Given the description of an element on the screen output the (x, y) to click on. 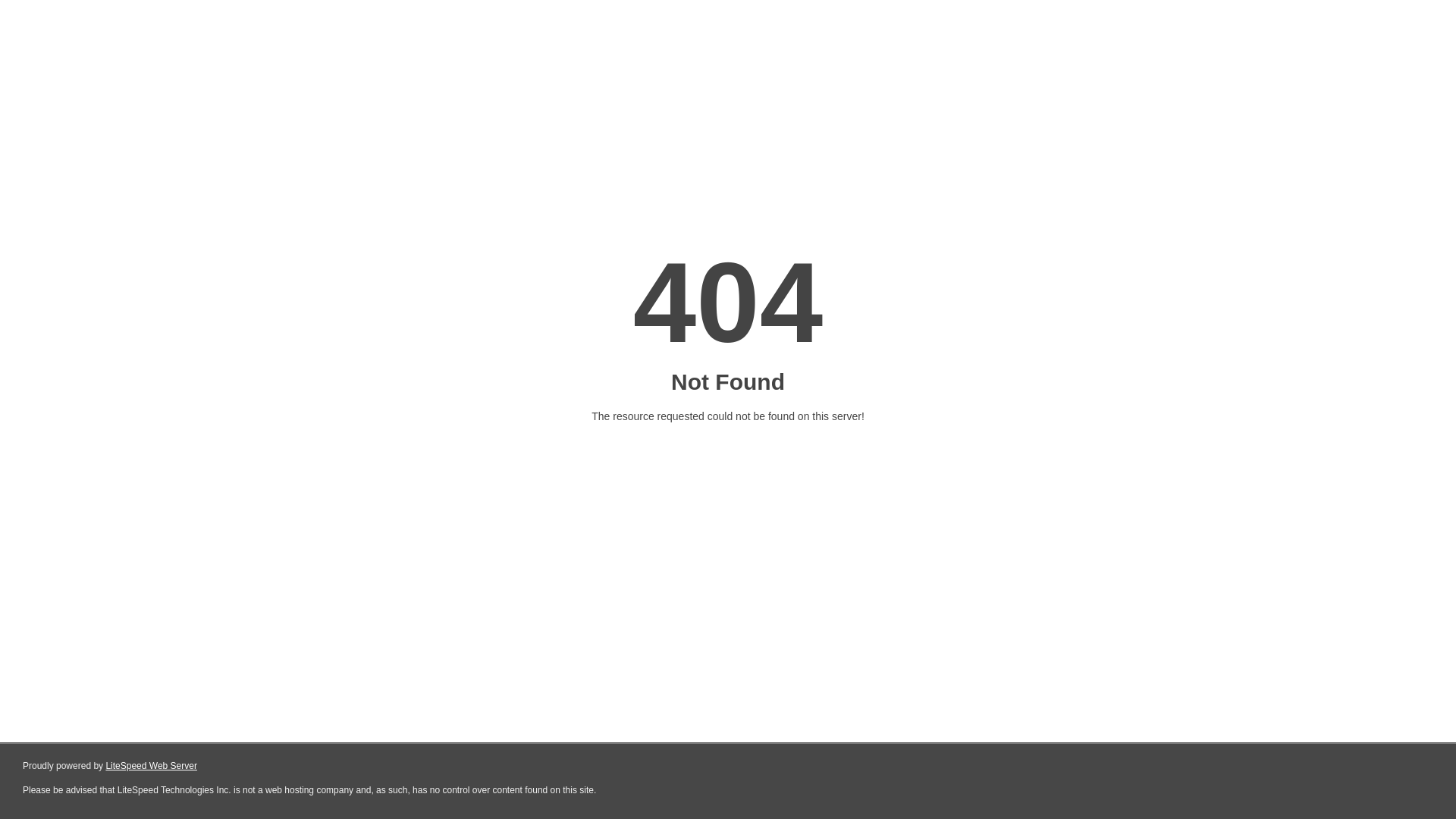
LiteSpeed Web Server Element type: text (151, 765)
